Given the description of an element on the screen output the (x, y) to click on. 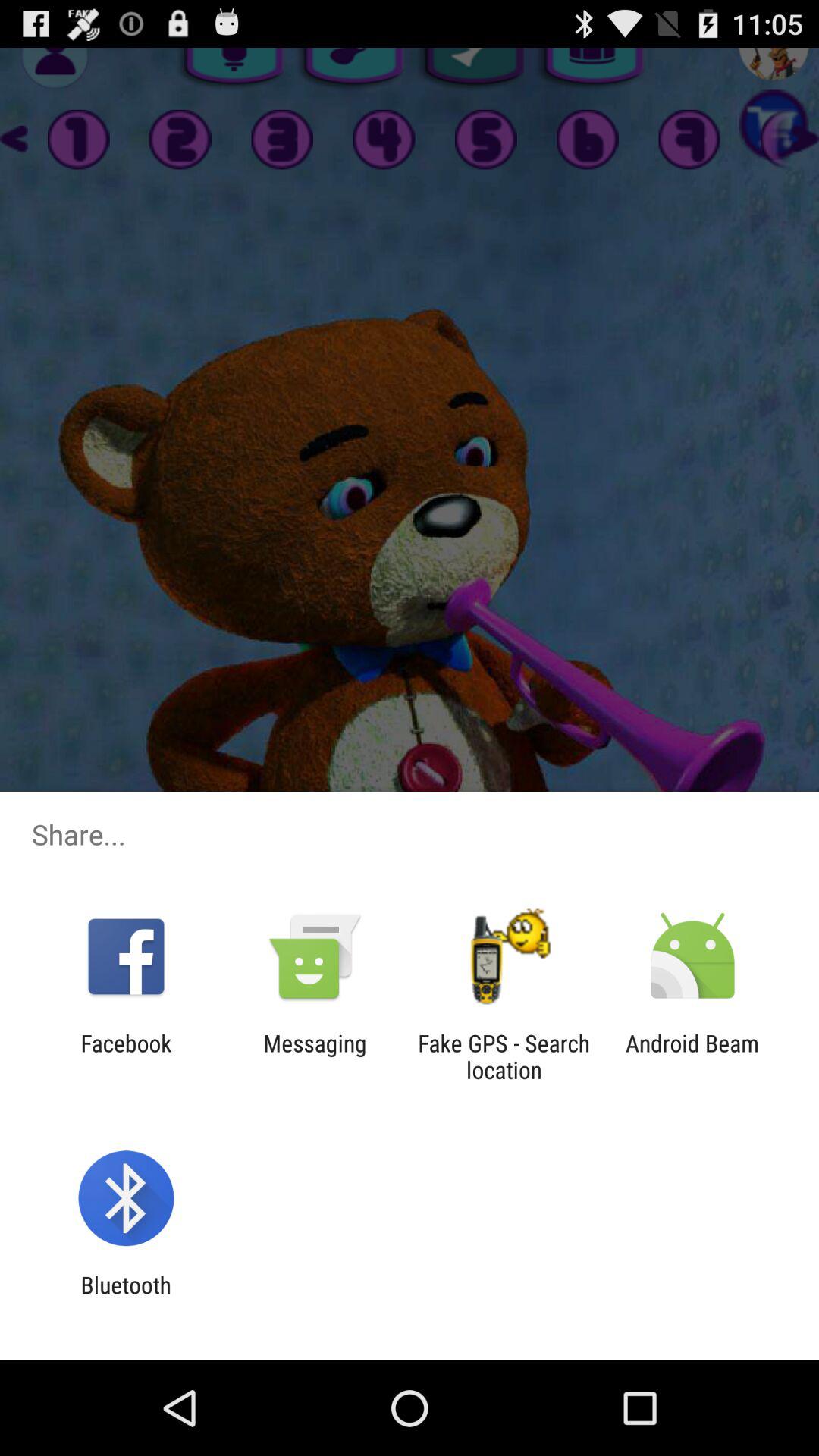
turn on the facebook item (125, 1056)
